Given the description of an element on the screen output the (x, y) to click on. 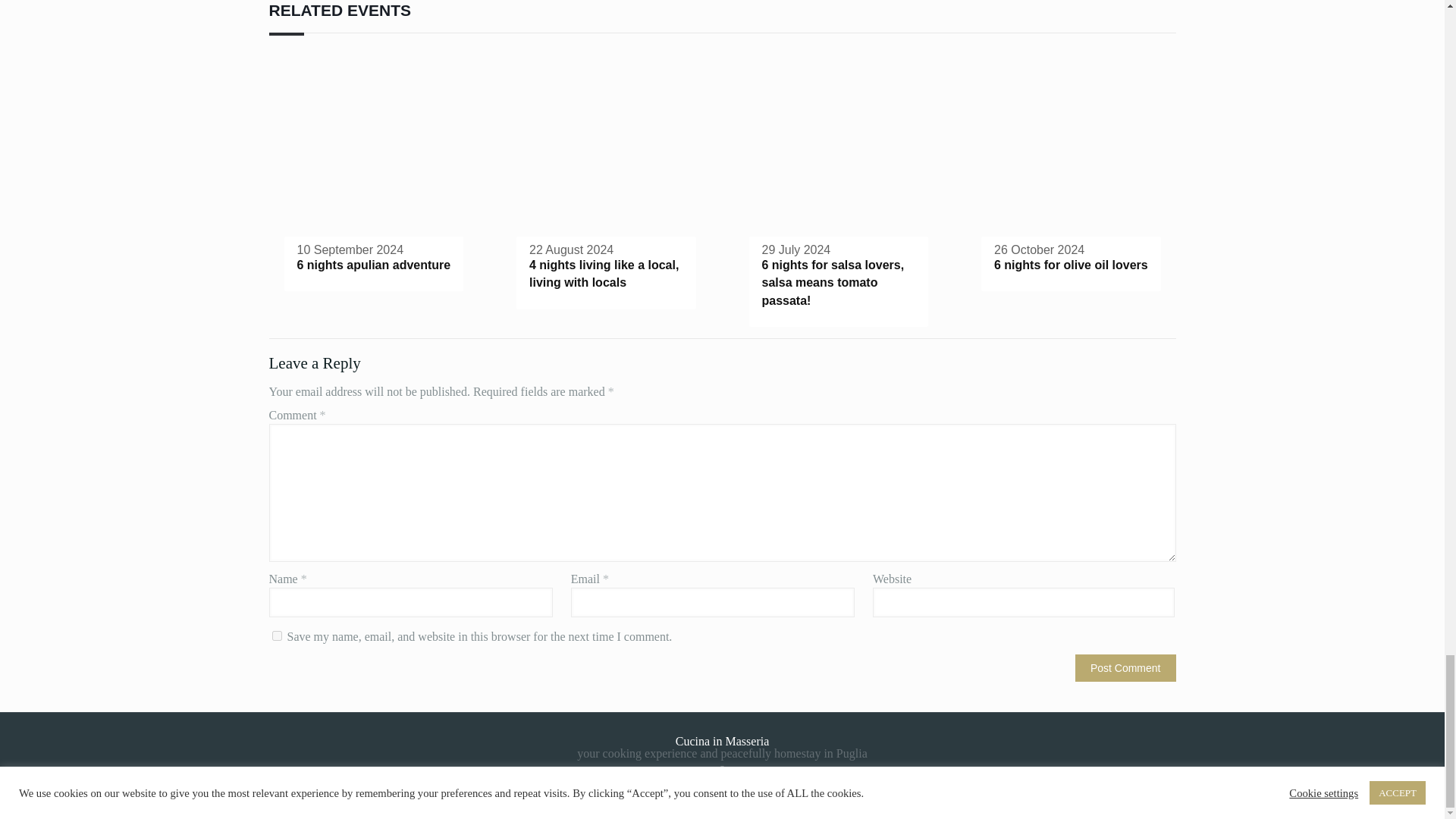
yes (275, 635)
Post Comment (1125, 667)
